Given the description of an element on the screen output the (x, y) to click on. 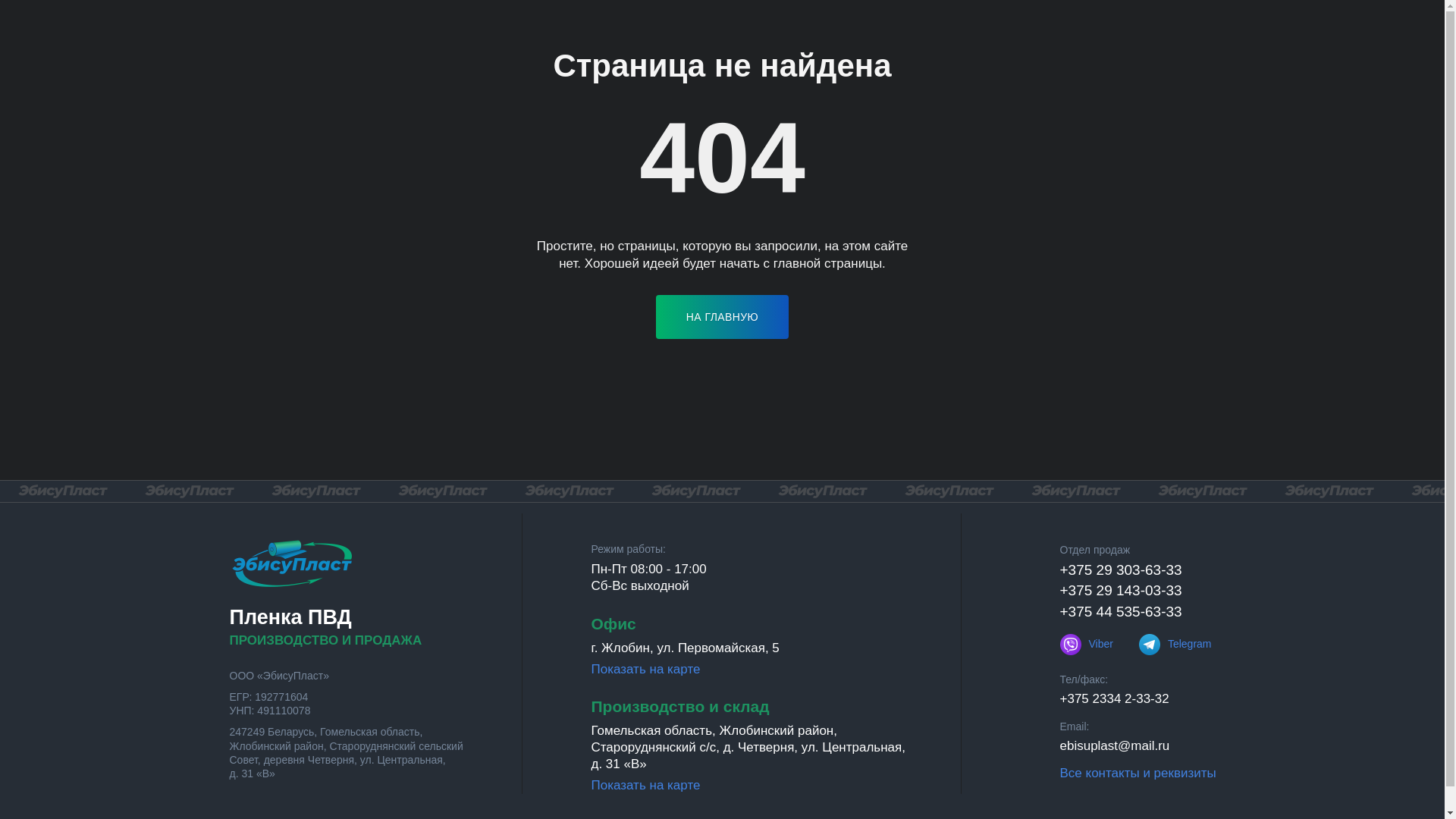
Telegram Element type: text (1175, 644)
+375 2334 2-33-32 Element type: text (1114, 698)
+375 29 303-63-33 Element type: text (1121, 569)
+375 44 535-63-33 Element type: text (1121, 611)
+375 29 143-03-33 Element type: text (1121, 590)
ebisuplast@mail.ru Element type: text (1115, 745)
Viber Element type: text (1086, 644)
